Given the description of an element on the screen output the (x, y) to click on. 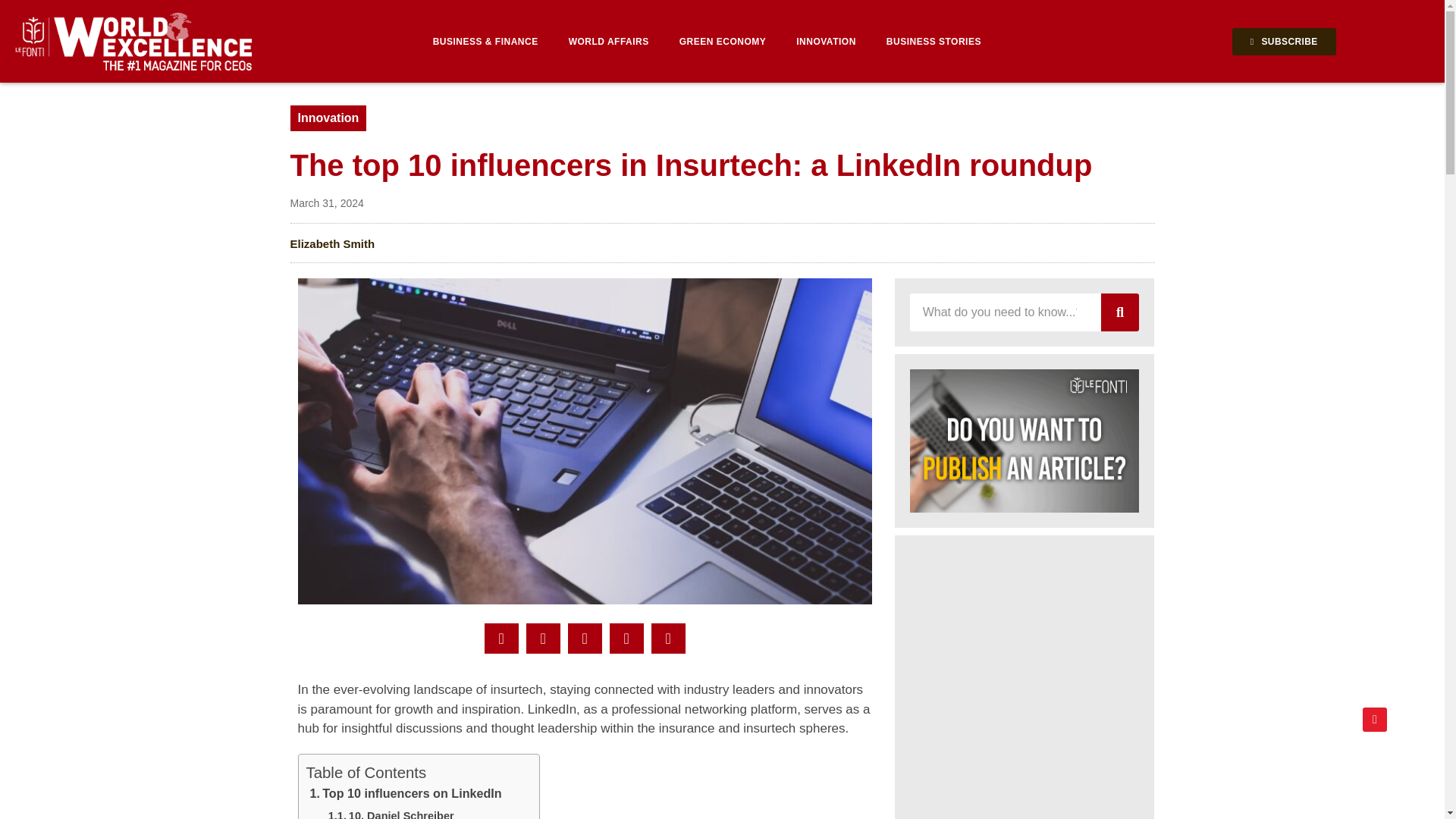
INNOVATION (825, 41)
SUBSCRIBE (1283, 41)
WORLD AFFAIRS (608, 41)
10. Daniel Schreiber (391, 813)
Innovation (327, 118)
BUSINESS STORIES (932, 41)
Top 10 influencers on LinkedIn  (405, 795)
10. Daniel Schreiber (391, 813)
Top 10 influencers on LinkedIn (405, 795)
GREEN ECONOMY (722, 41)
